Given the description of an element on the screen output the (x, y) to click on. 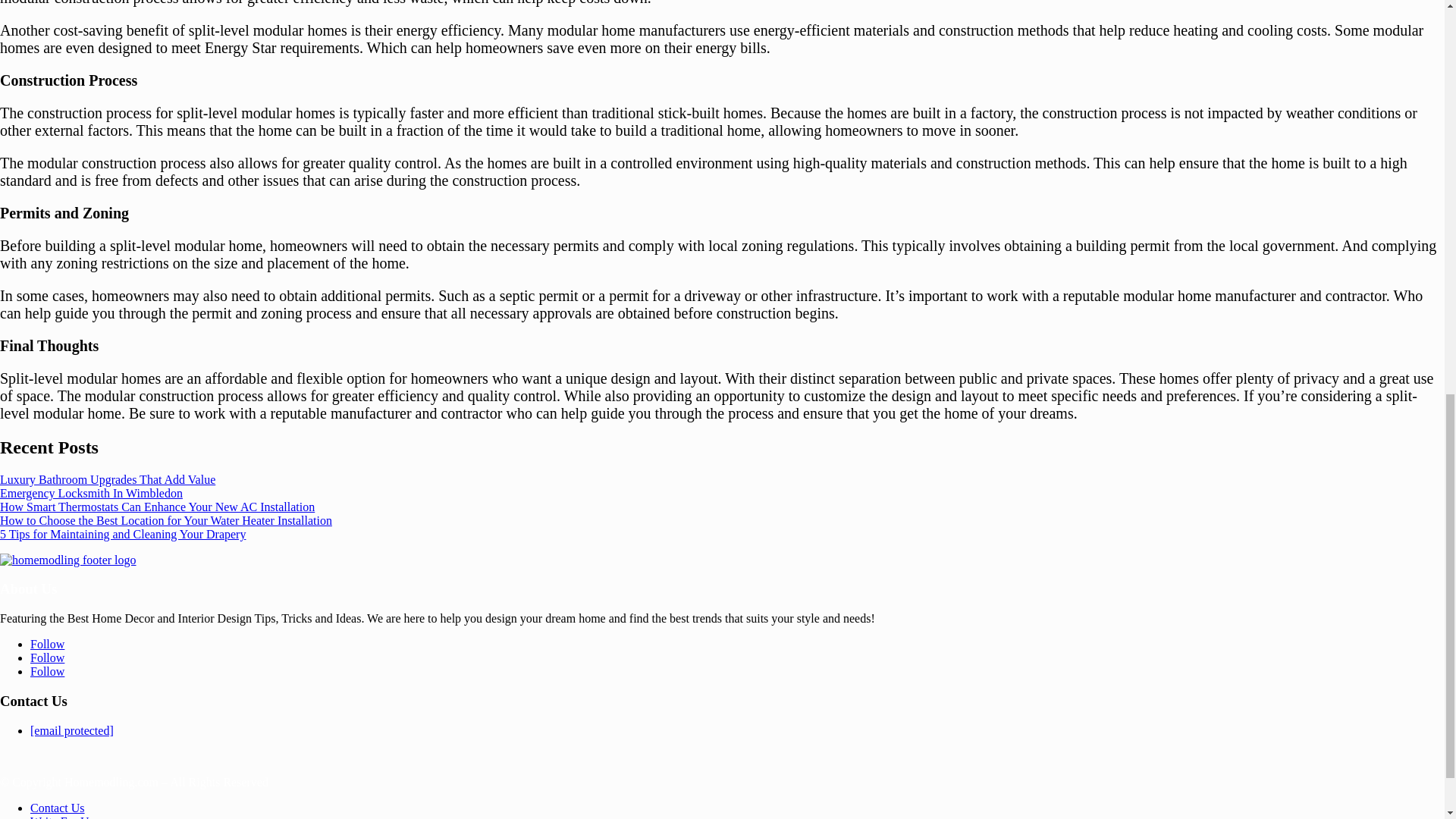
Contact Us (57, 807)
Follow on LinkedIn (47, 657)
How Smart Thermostats Can Enhance Your New AC Installation (157, 506)
Write For Us (62, 816)
Follow (47, 671)
Follow on Instagram (47, 671)
Follow on Facebook (47, 644)
Luxury Bathroom Upgrades That Add Value (107, 479)
5 Tips for Maintaining and Cleaning Your Drapery (123, 533)
